Given the description of an element on the screen output the (x, y) to click on. 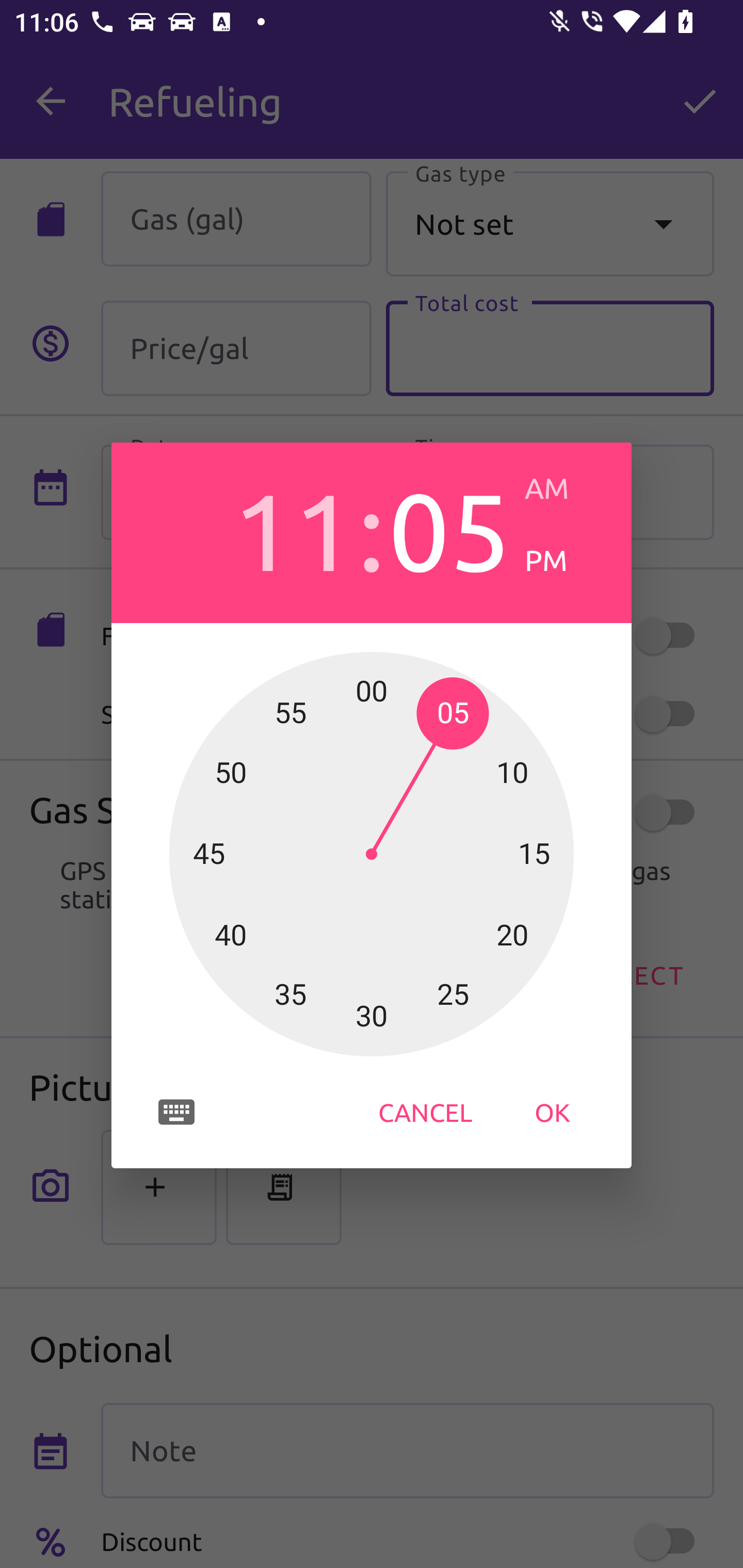
AM (563, 488)
11 (293, 528)
05 (449, 528)
PM (563, 560)
CANCEL (425, 1111)
OK (552, 1111)
Switch to text input mode for the time input. (175, 1112)
